Given the description of an element on the screen output the (x, y) to click on. 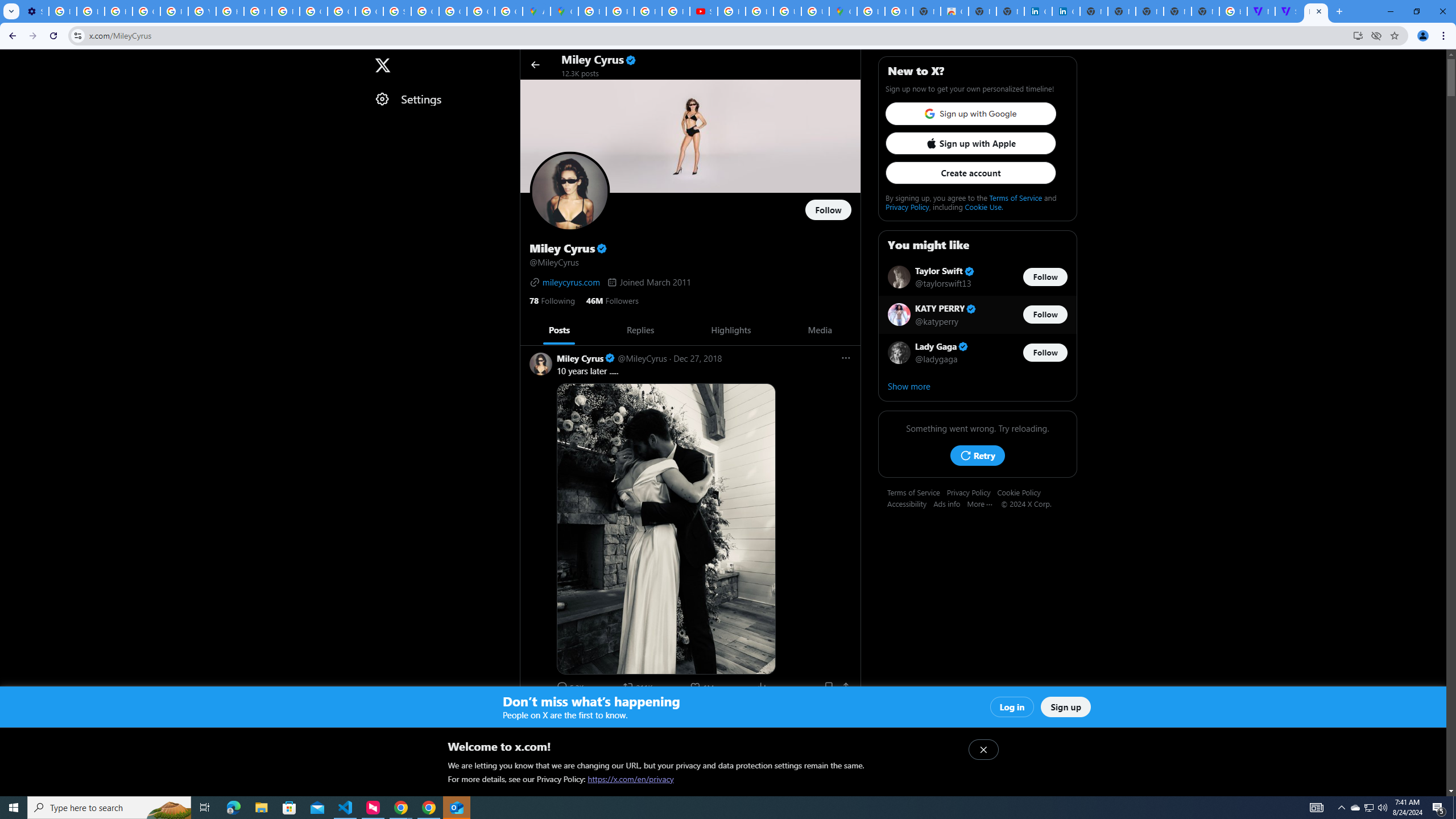
Jul 16, 2019 (694, 711)
Log in (1012, 706)
Follow @MileyCyrus (828, 209)
Delete photos & videos - Computer - Google Photos Help (62, 11)
Streaming - The Verge (1288, 11)
Cookie Use. (983, 206)
Posts (558, 329)
Cookie Policy | LinkedIn (1038, 11)
Accessibility (909, 503)
@taylorswift13 (943, 283)
78 Following (552, 300)
Skip to trending (10, 59)
